Given the description of an element on the screen output the (x, y) to click on. 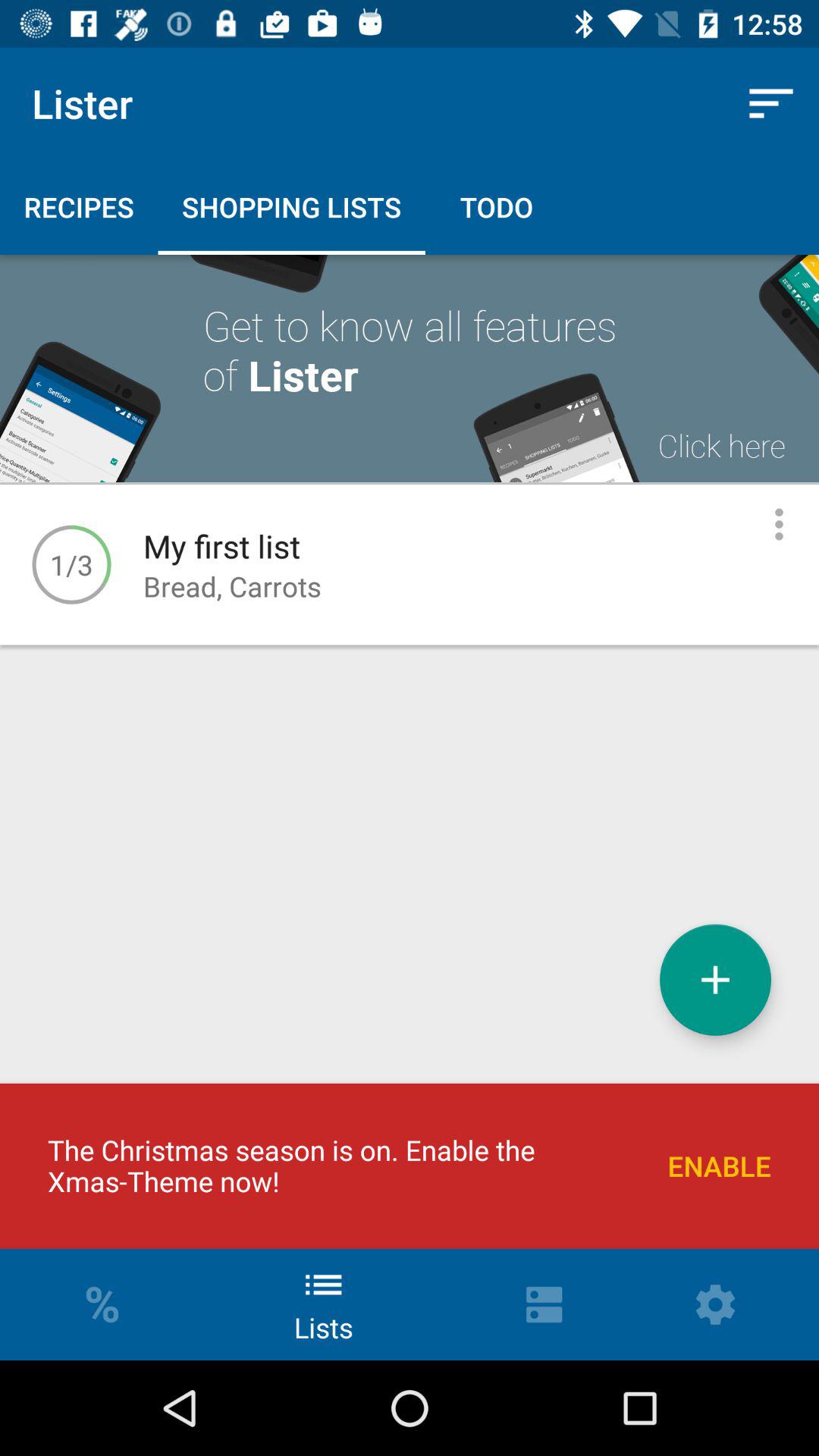
add new list (715, 979)
